Given the description of an element on the screen output the (x, y) to click on. 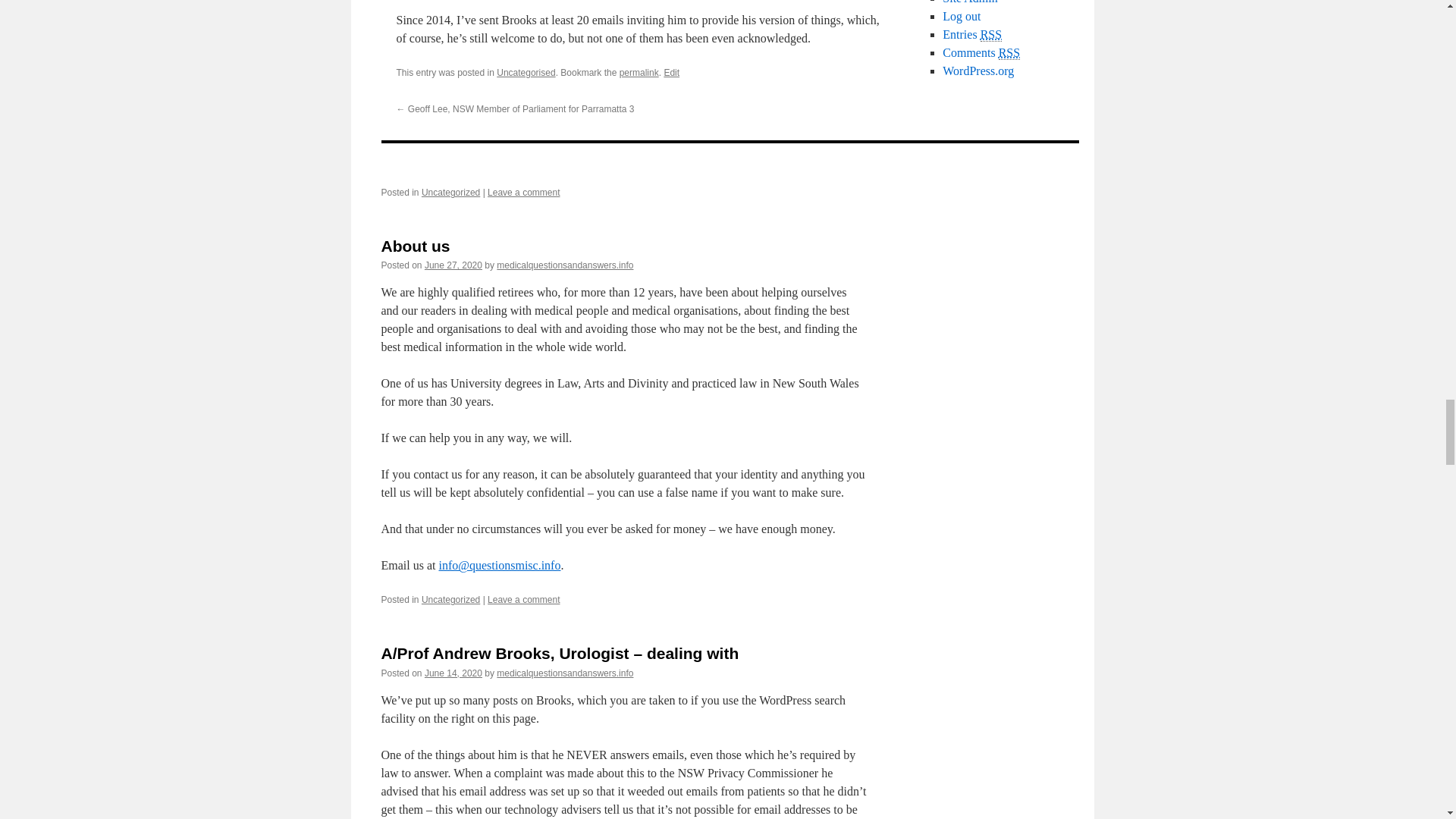
3:34 pm (453, 673)
Edit (671, 72)
Really Simple Syndication (990, 34)
permalink (639, 72)
1:05 pm (453, 265)
View all posts by medicalquestionsandanswers.info (564, 265)
Really Simple Syndication (1009, 52)
Uncategorised (525, 72)
